Given the description of an element on the screen output the (x, y) to click on. 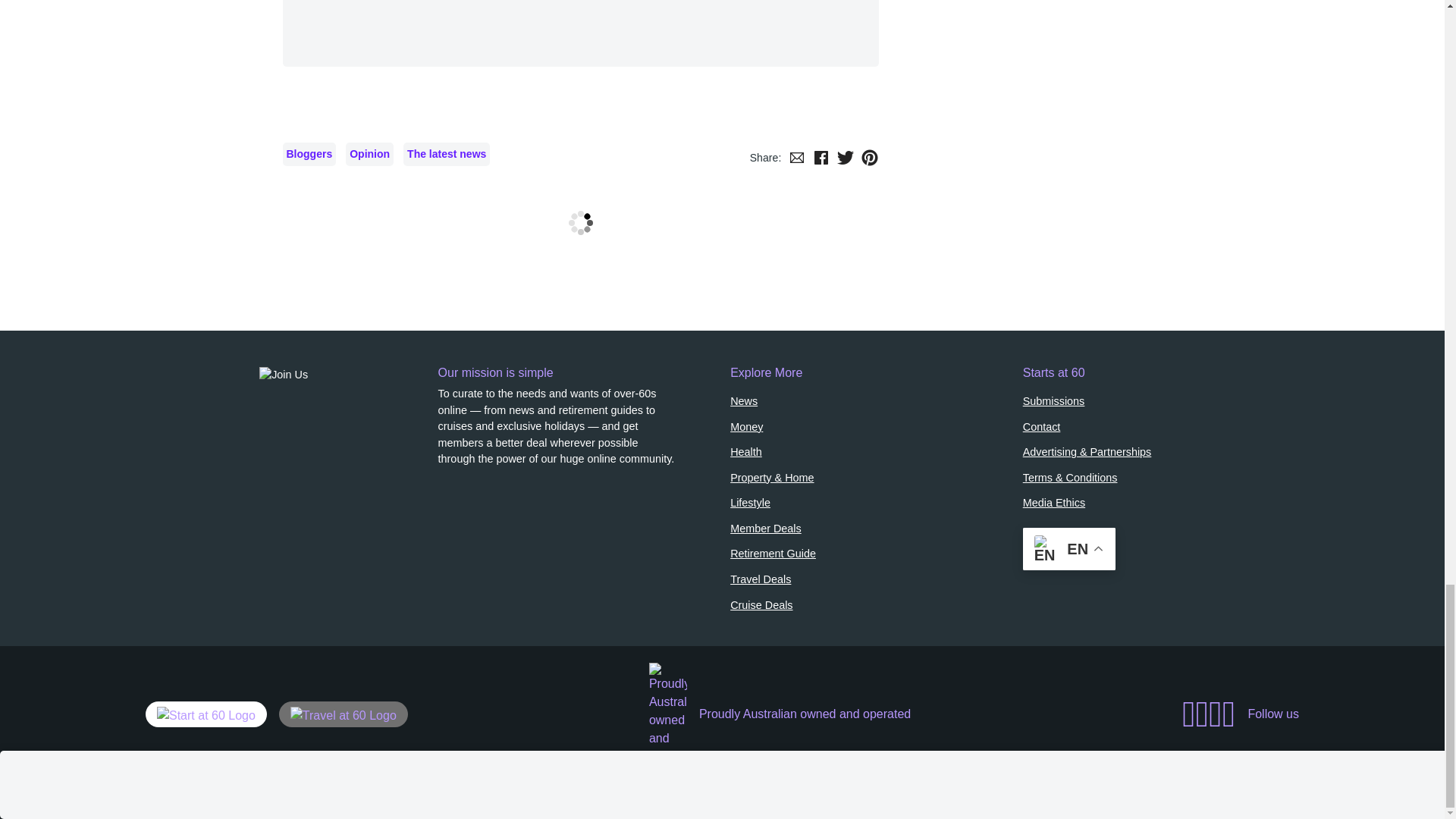
Share on Twitter (844, 157)
The latest news (446, 154)
Share on Pinterest (868, 157)
Share via email (796, 157)
Bloggers (309, 154)
Share on Facebook (819, 157)
Opinion (369, 154)
